Given the description of an element on the screen output the (x, y) to click on. 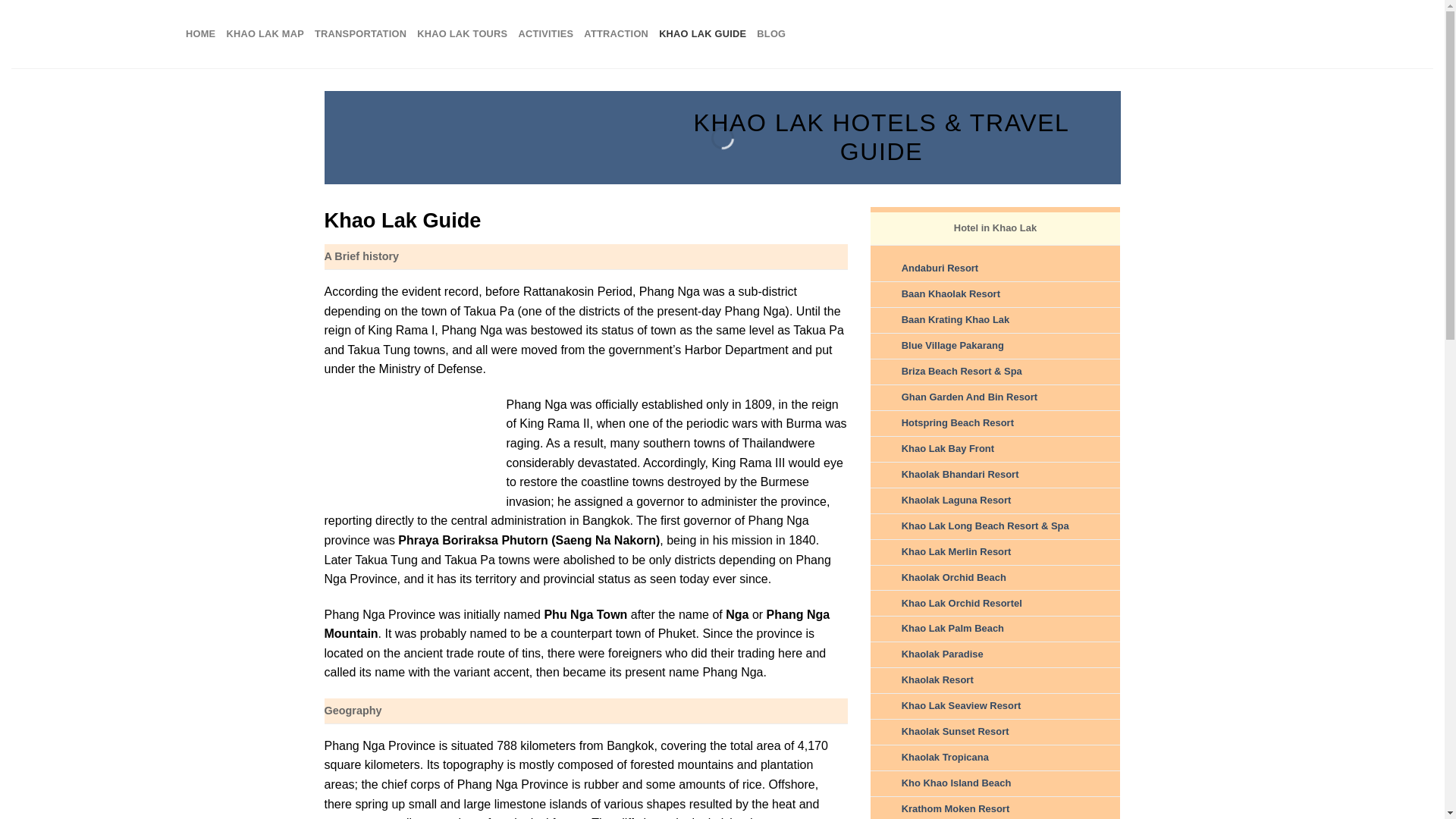
Ghan Garden And Bin Resort (968, 396)
KHAO LAK MAP (264, 33)
Baan Krating Khao Lak (955, 319)
TRANSPORTATION (360, 33)
Krathom Moken Resort (955, 808)
KHAO LAK GUIDE (702, 33)
KHAO LAK TOURS (461, 33)
Khaolak Laguna Resort (956, 500)
Khao Lak Orchid Resortel (961, 603)
Khaolak Paradise (942, 654)
Khao Lak Palm Beach (952, 627)
Kho Khao Island Beach (956, 782)
HOME (200, 33)
Khaolak Sunset Resort (955, 731)
Khao Lak Seaview Resort (961, 705)
